Given the description of an element on the screen output the (x, y) to click on. 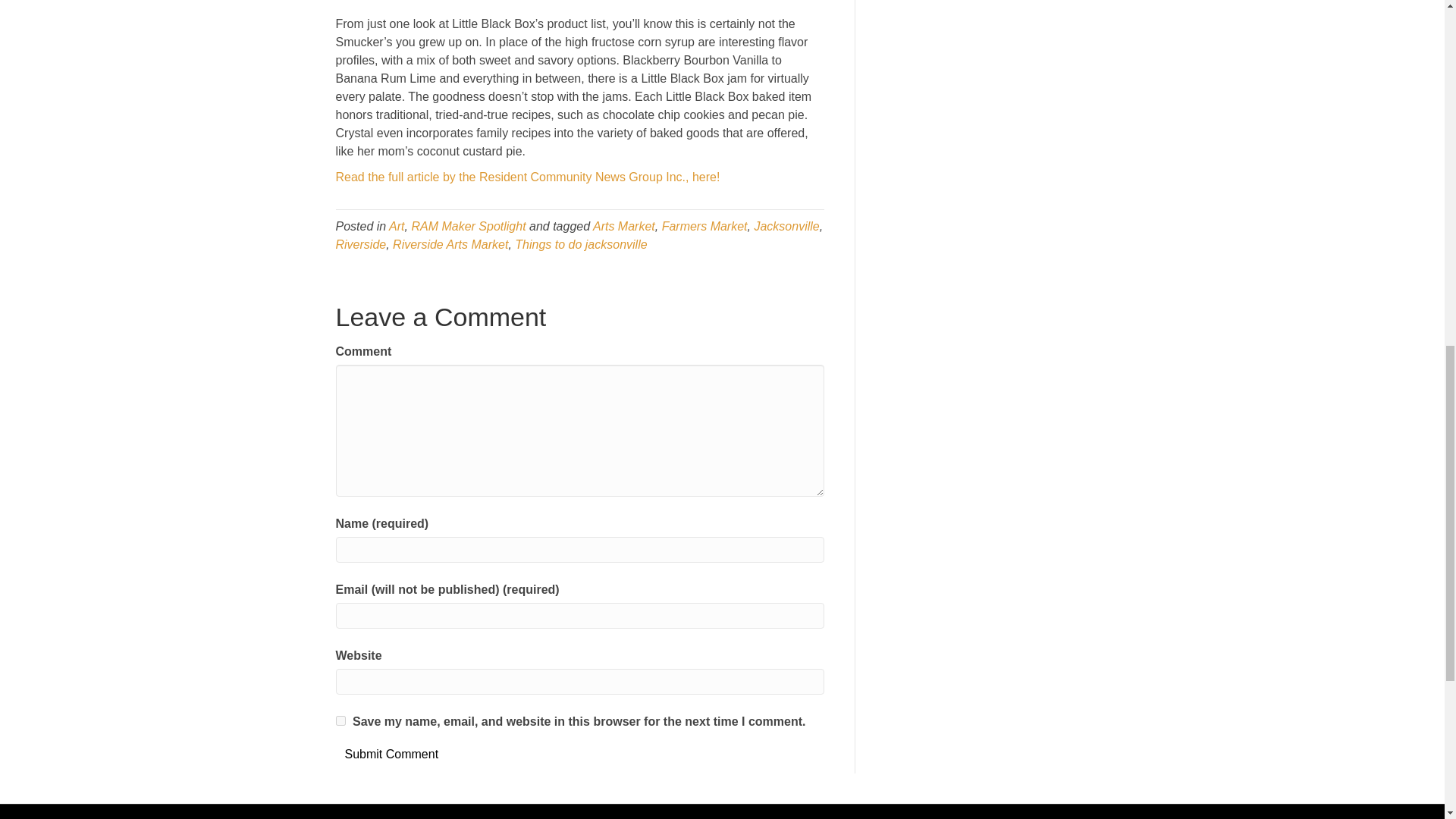
yes (339, 720)
Submit Comment (390, 753)
